Given the description of an element on the screen output the (x, y) to click on. 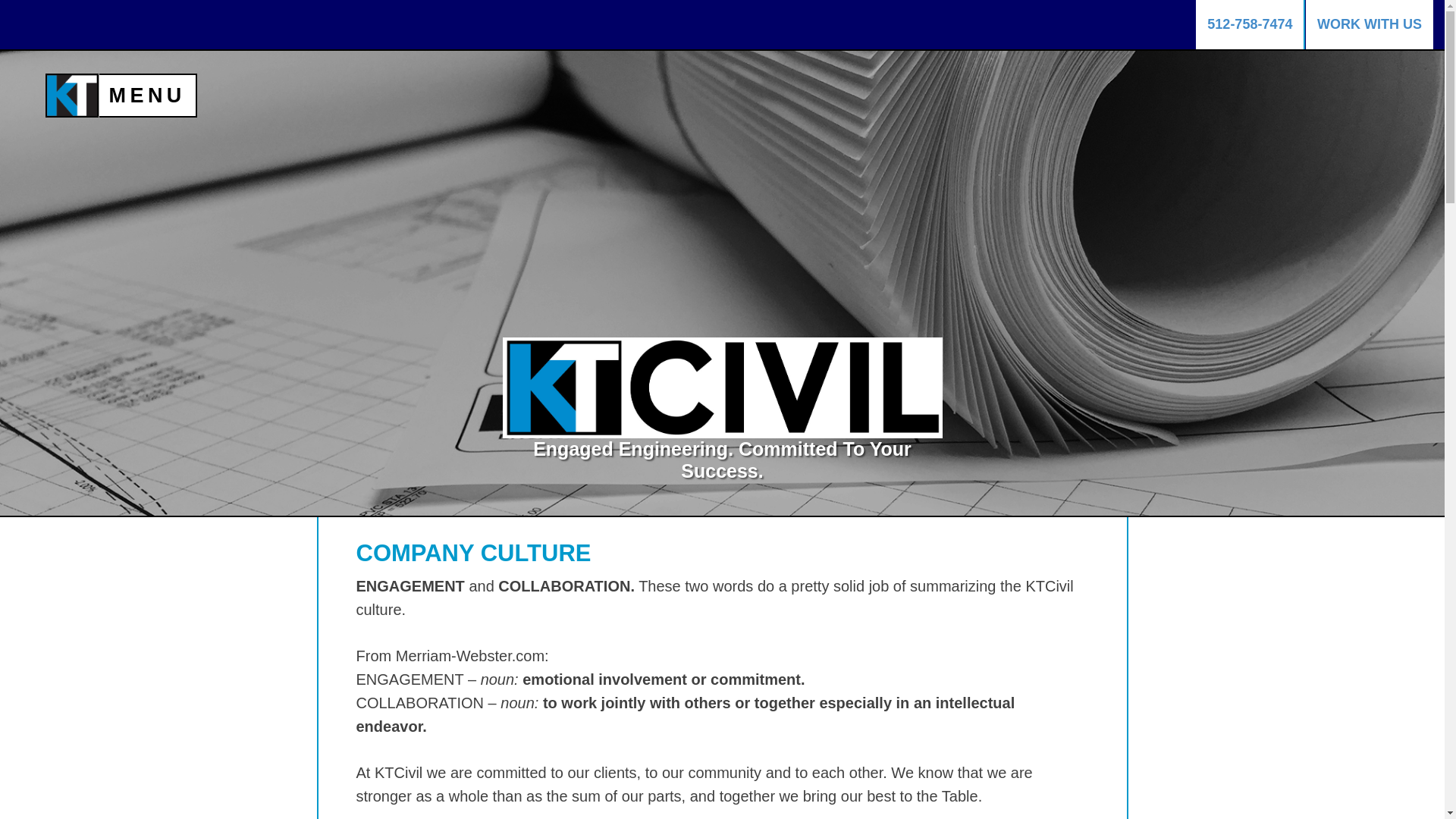
512-758-7474 (1249, 24)
MENU (147, 95)
KITCHEN TABLE CIVIL SOLUTIONS (68, 103)
WORK WITH US (1369, 24)
